Given the description of an element on the screen output the (x, y) to click on. 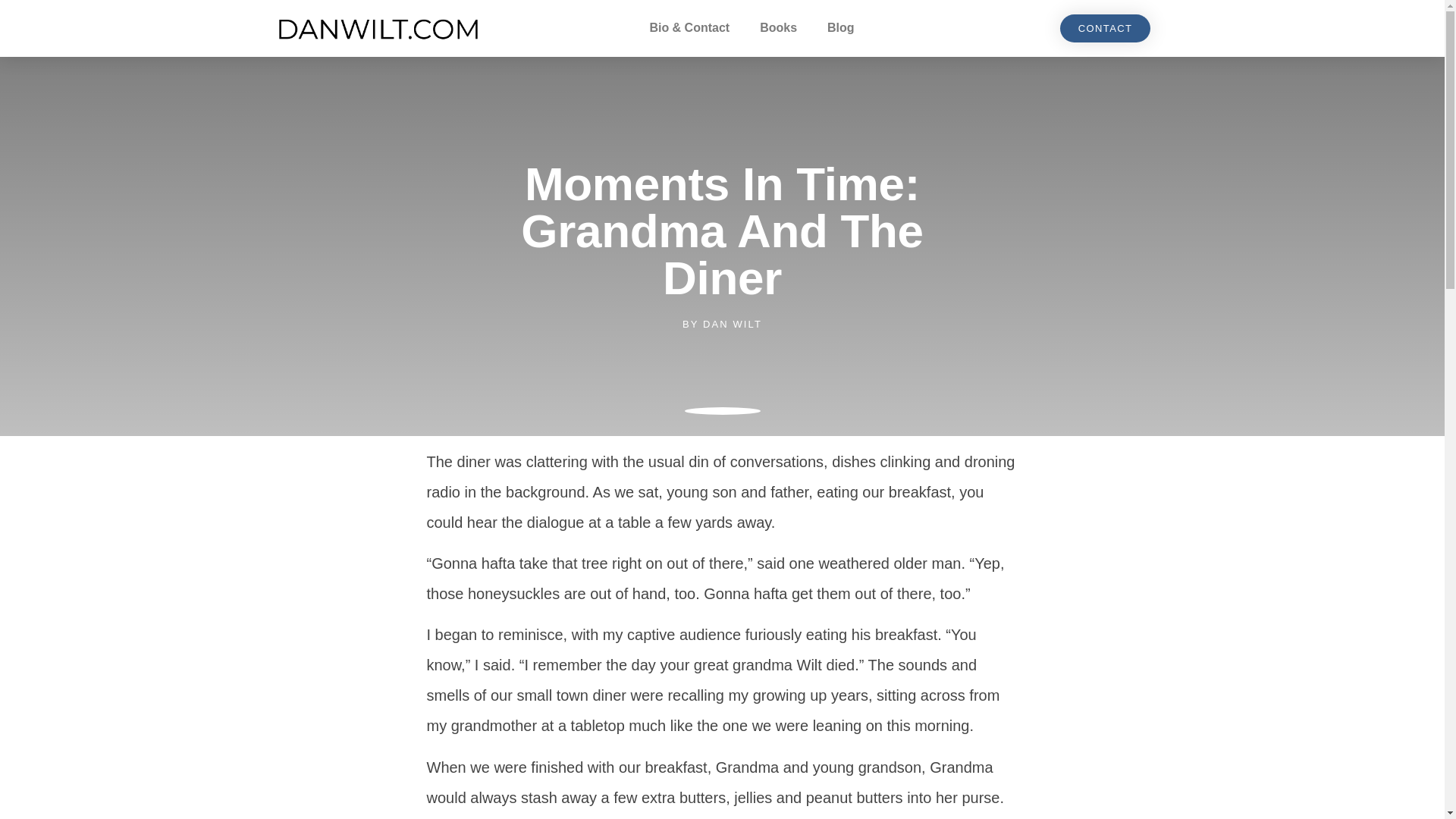
Books (778, 27)
BY DAN WILT (721, 324)
CONTACT (1105, 28)
Blog (840, 27)
